Given the description of an element on the screen output the (x, y) to click on. 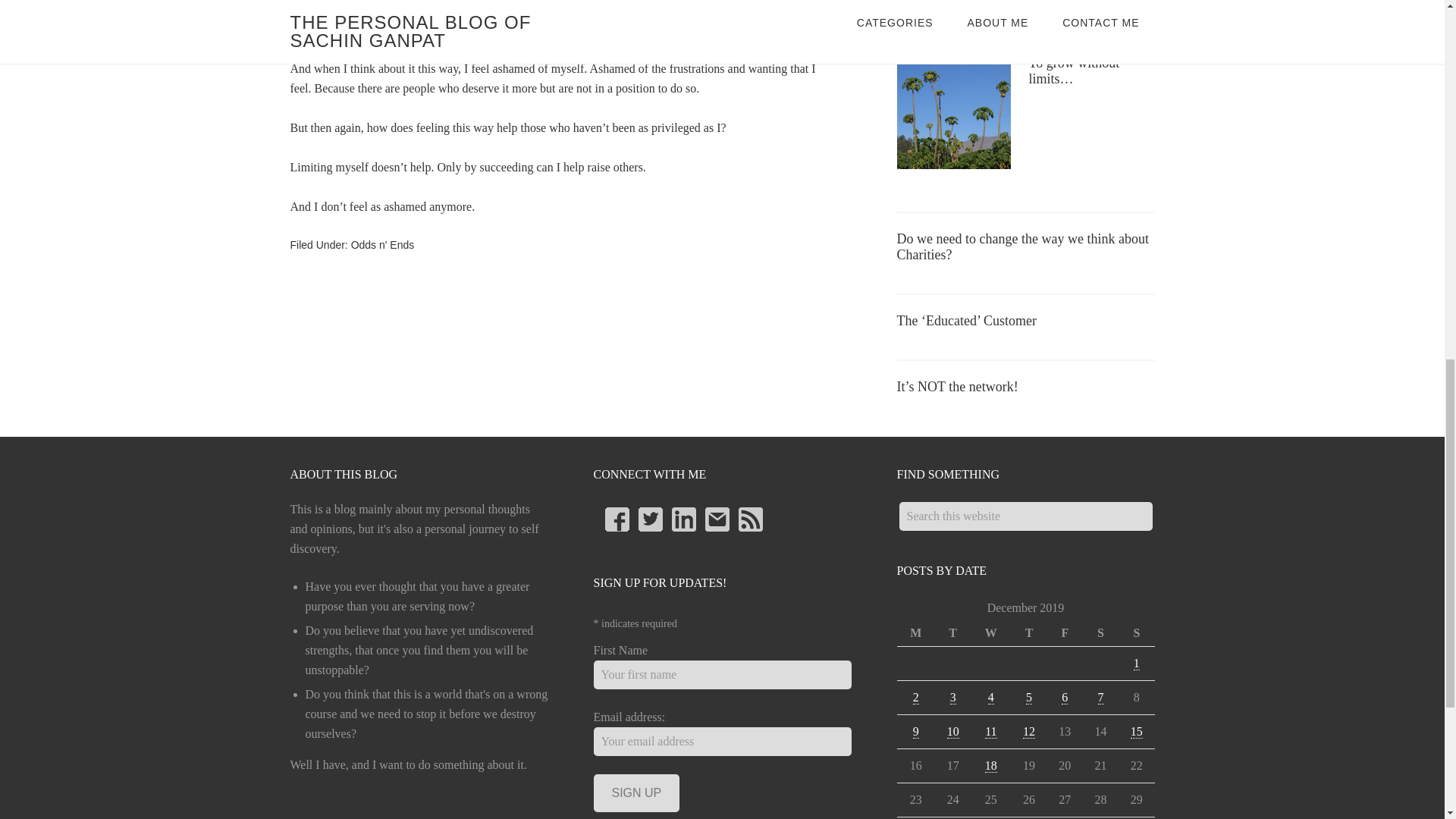
Sunday (1136, 633)
Subscribe to my RSS Feed (750, 518)
Do we need to change the way we think about Charities? (1022, 246)
Monday (915, 633)
Sign up (635, 792)
Sign up (635, 792)
Follow Me on Twitter (650, 518)
Wednesday (990, 633)
